Given the description of an element on the screen output the (x, y) to click on. 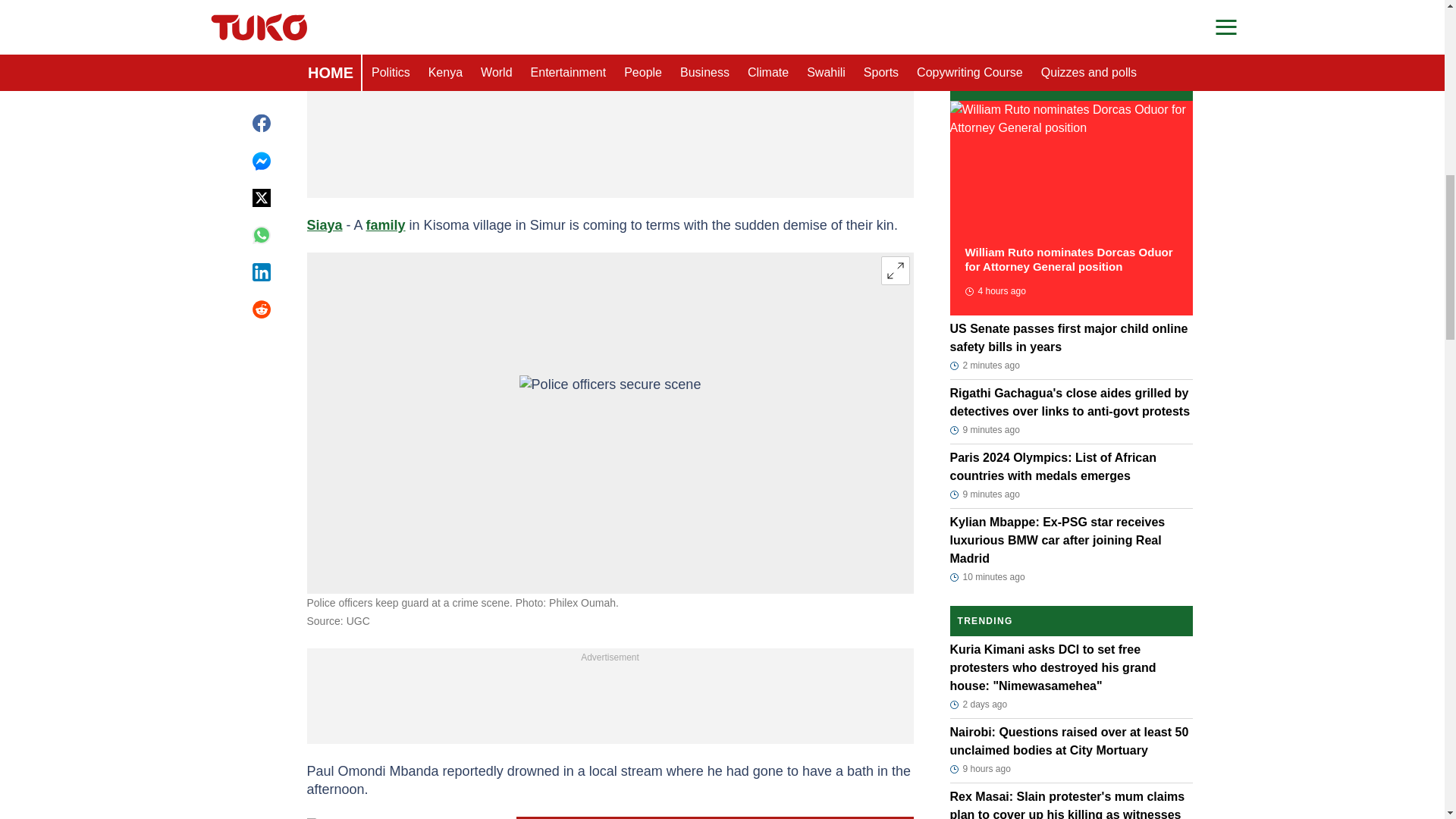
Expand image (895, 270)
Police officers secure scene (610, 422)
